Given the description of an element on the screen output the (x, y) to click on. 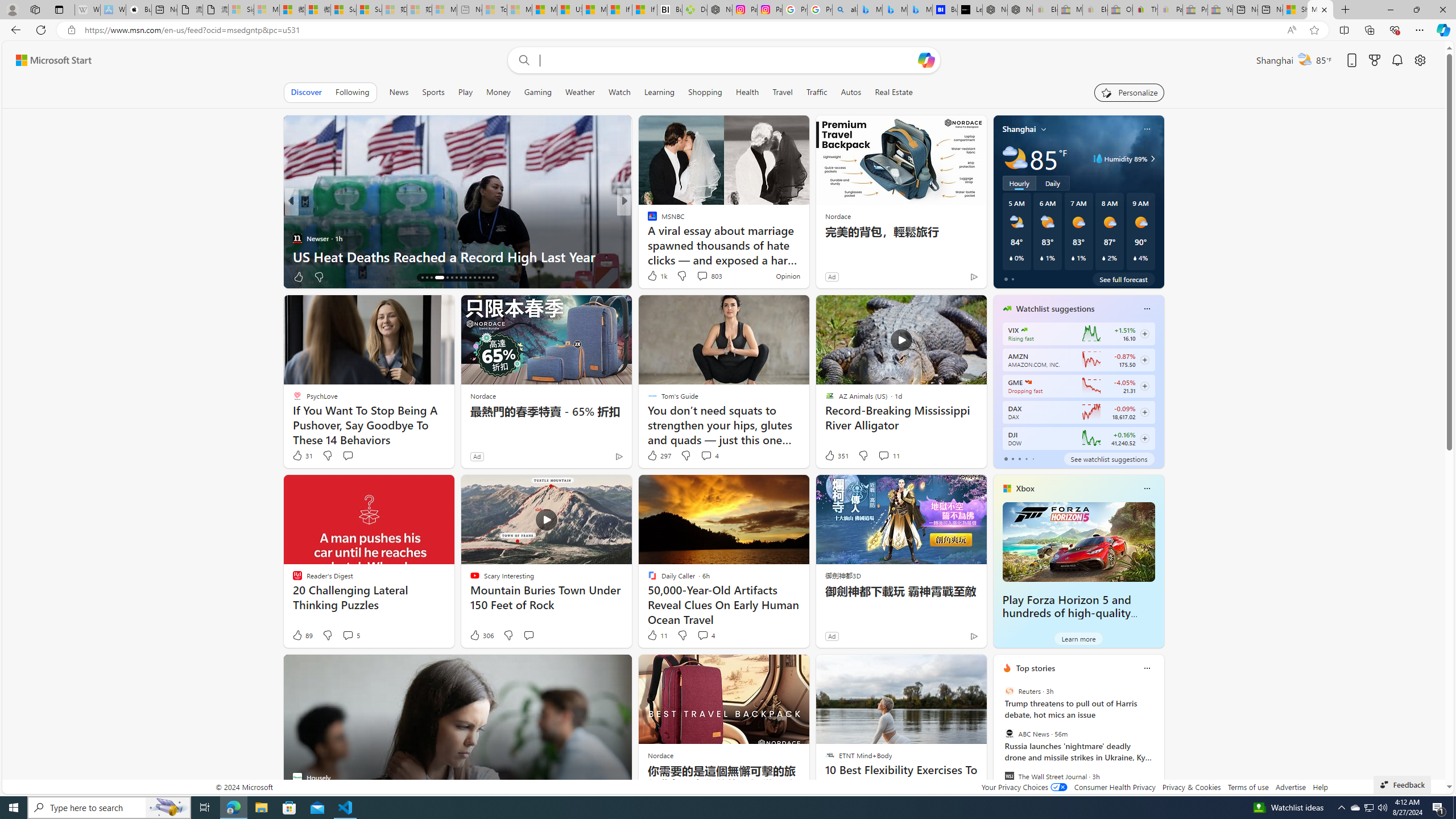
Kinda Frugal (647, 219)
89 Like (301, 634)
AutomationID: tab-24 (465, 277)
Very hot week ahead (807, 256)
Barron's (647, 219)
previous (998, 741)
View comments 5 Comment (347, 635)
